Given the description of an element on the screen output the (x, y) to click on. 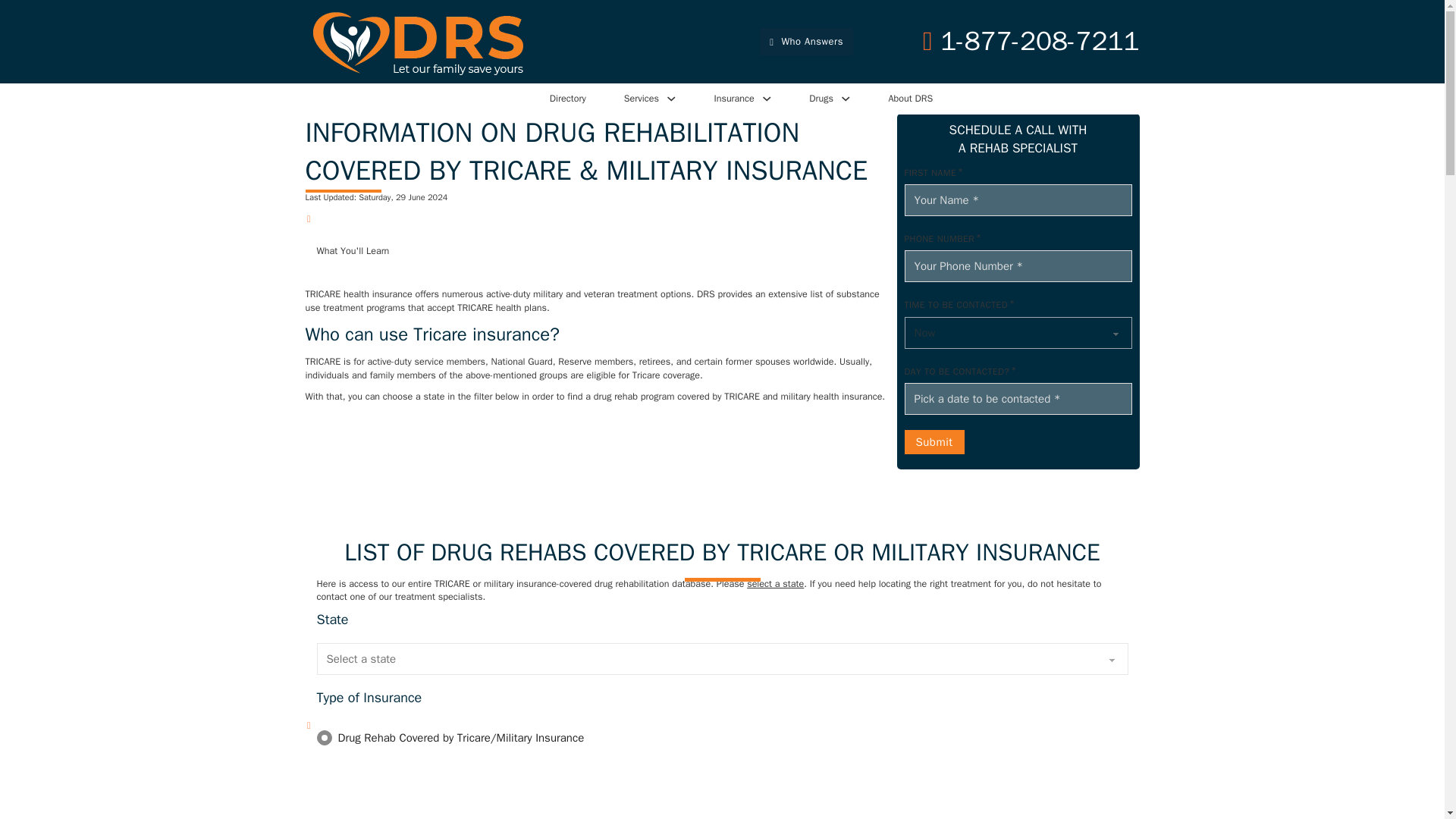
1-877-208-7211 (1031, 40)
About DRS (910, 98)
Services (641, 98)
Drugs (820, 98)
Directory (568, 98)
Insurance (733, 98)
